Given the description of an element on the screen output the (x, y) to click on. 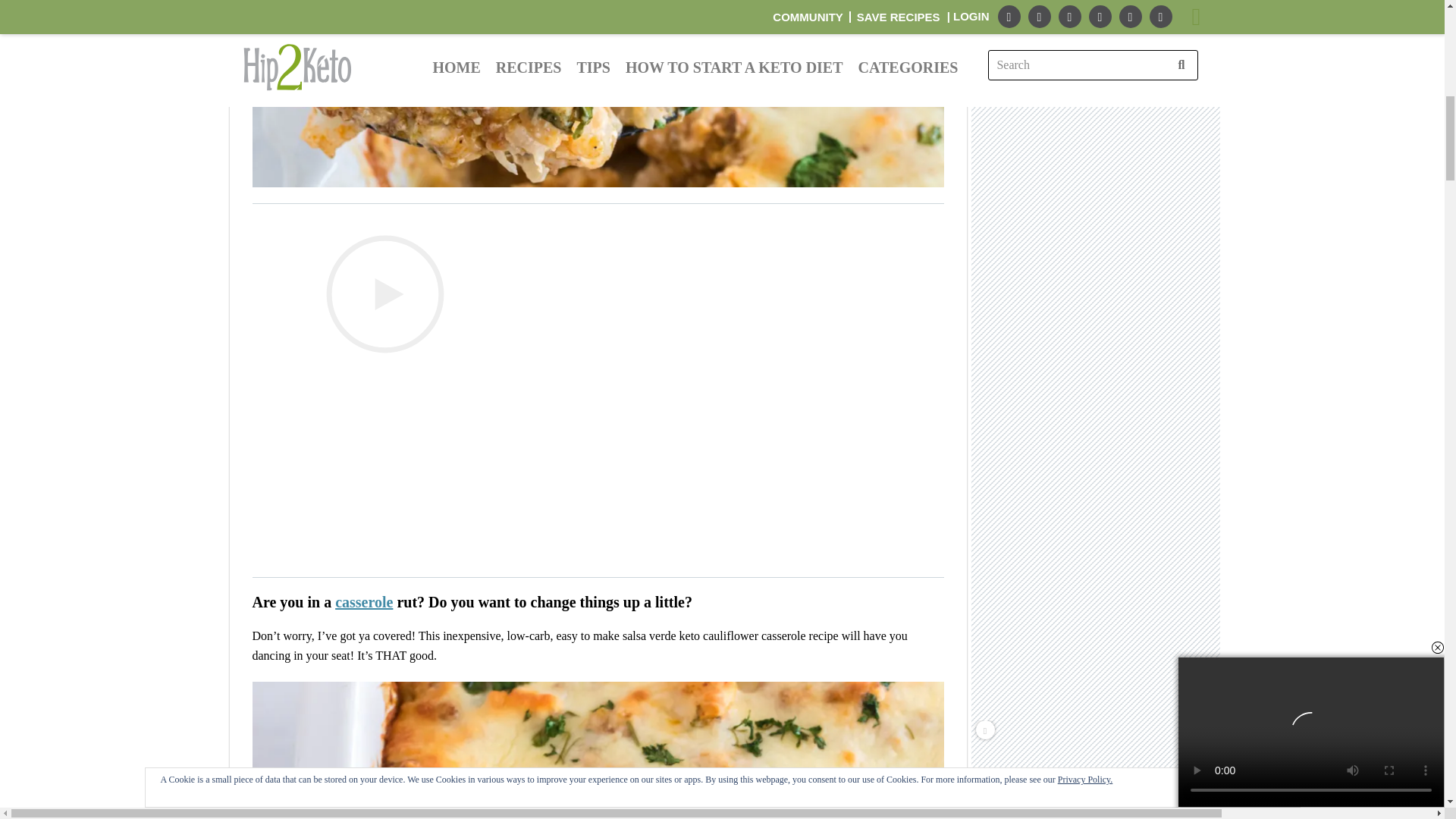
3rd party ad content (1095, 5)
3rd party ad content (1095, 150)
casserole (363, 601)
3rd party ad content (1095, 385)
